Given the description of an element on the screen output the (x, y) to click on. 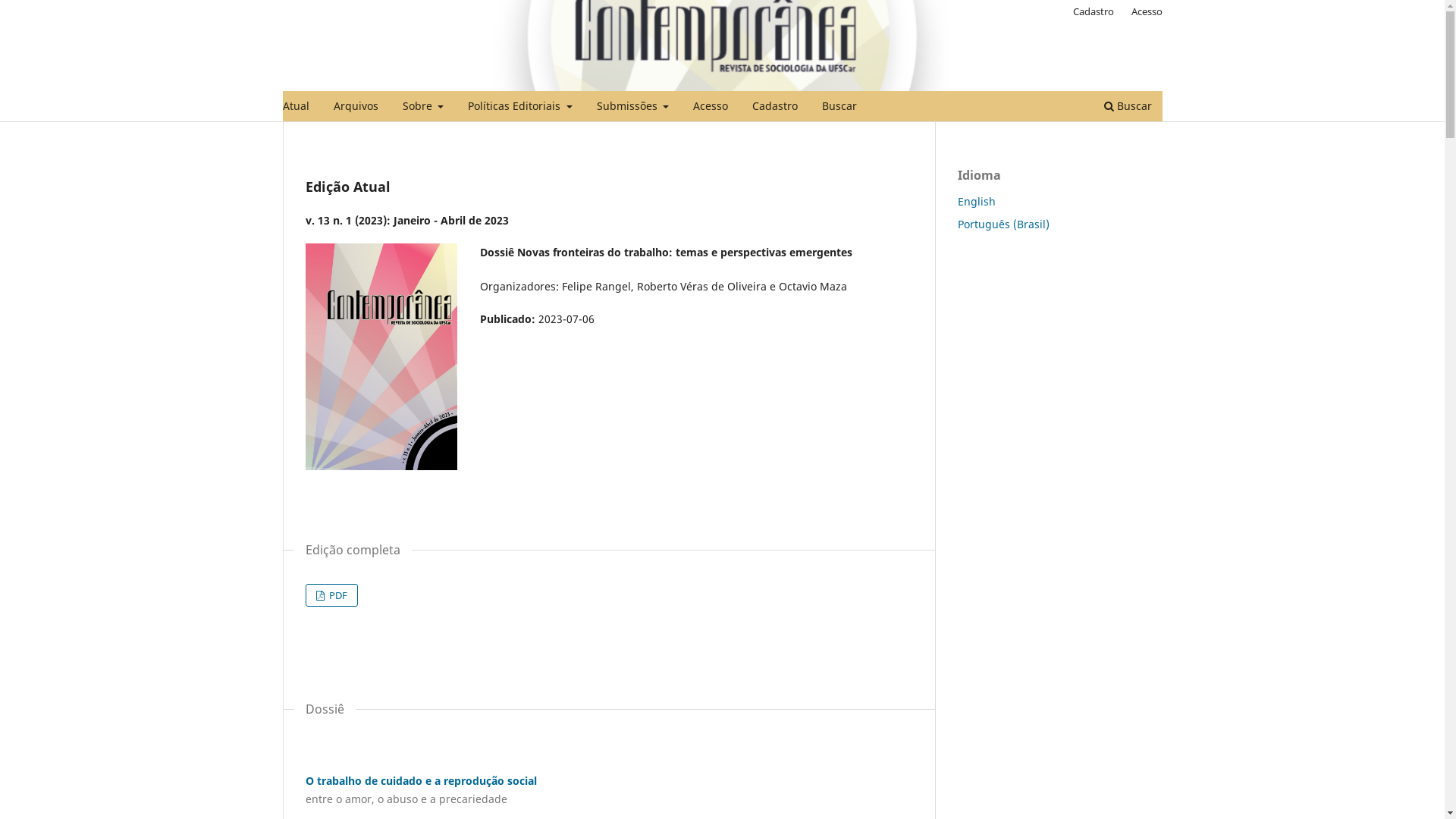
Sobre Element type: text (423, 107)
Buscar Element type: text (839, 107)
Cadastro Element type: text (774, 107)
Acesso Element type: text (710, 107)
English Element type: text (975, 201)
Cadastro Element type: text (1093, 11)
PDF Element type: text (330, 594)
Acesso Element type: text (1146, 11)
Atual Element type: text (295, 107)
Buscar Element type: text (1127, 107)
Arquivos Element type: text (354, 107)
